Given the description of an element on the screen output the (x, y) to click on. 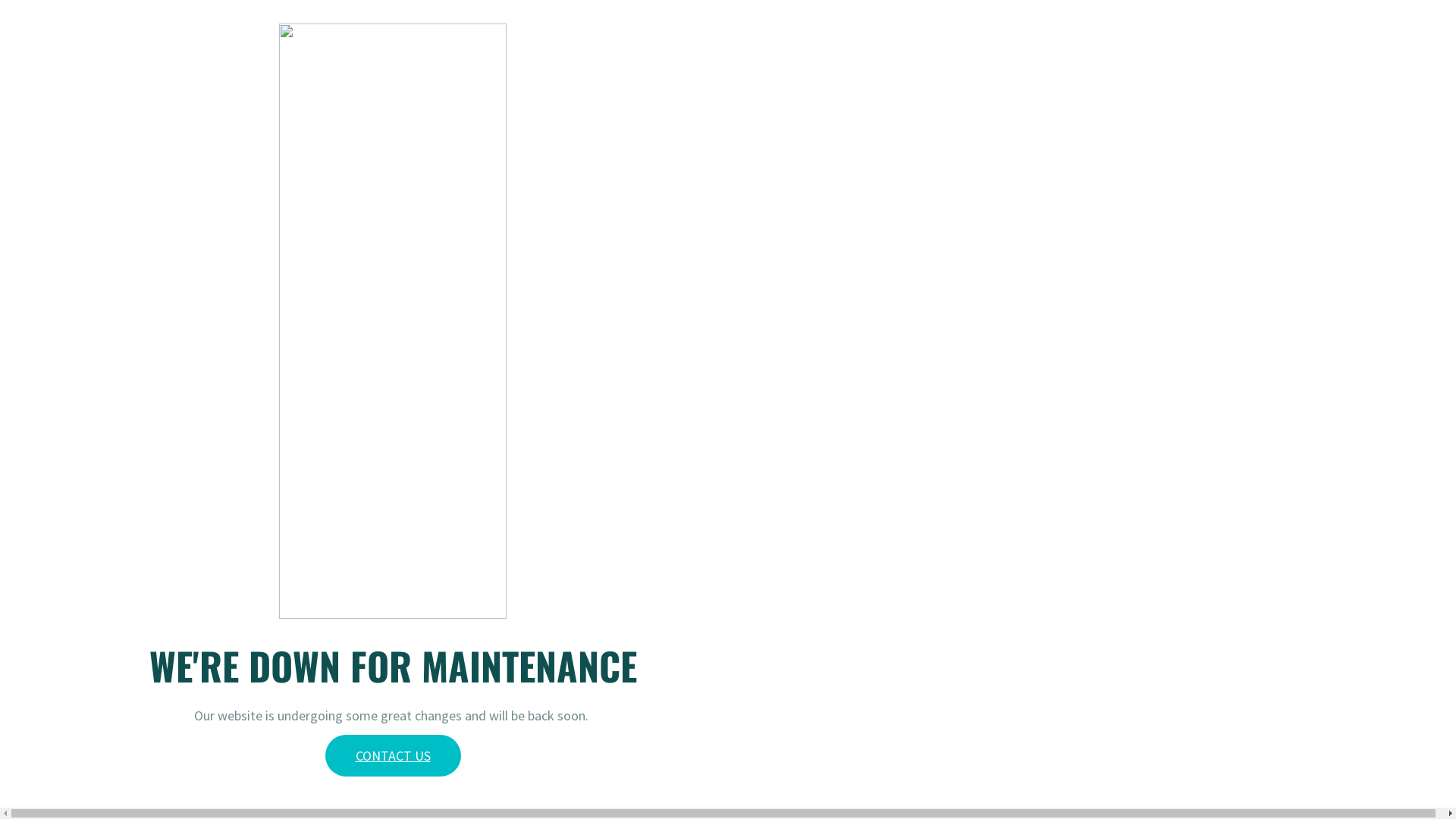
CONTACT US Element type: text (392, 755)
